Given the description of an element on the screen output the (x, y) to click on. 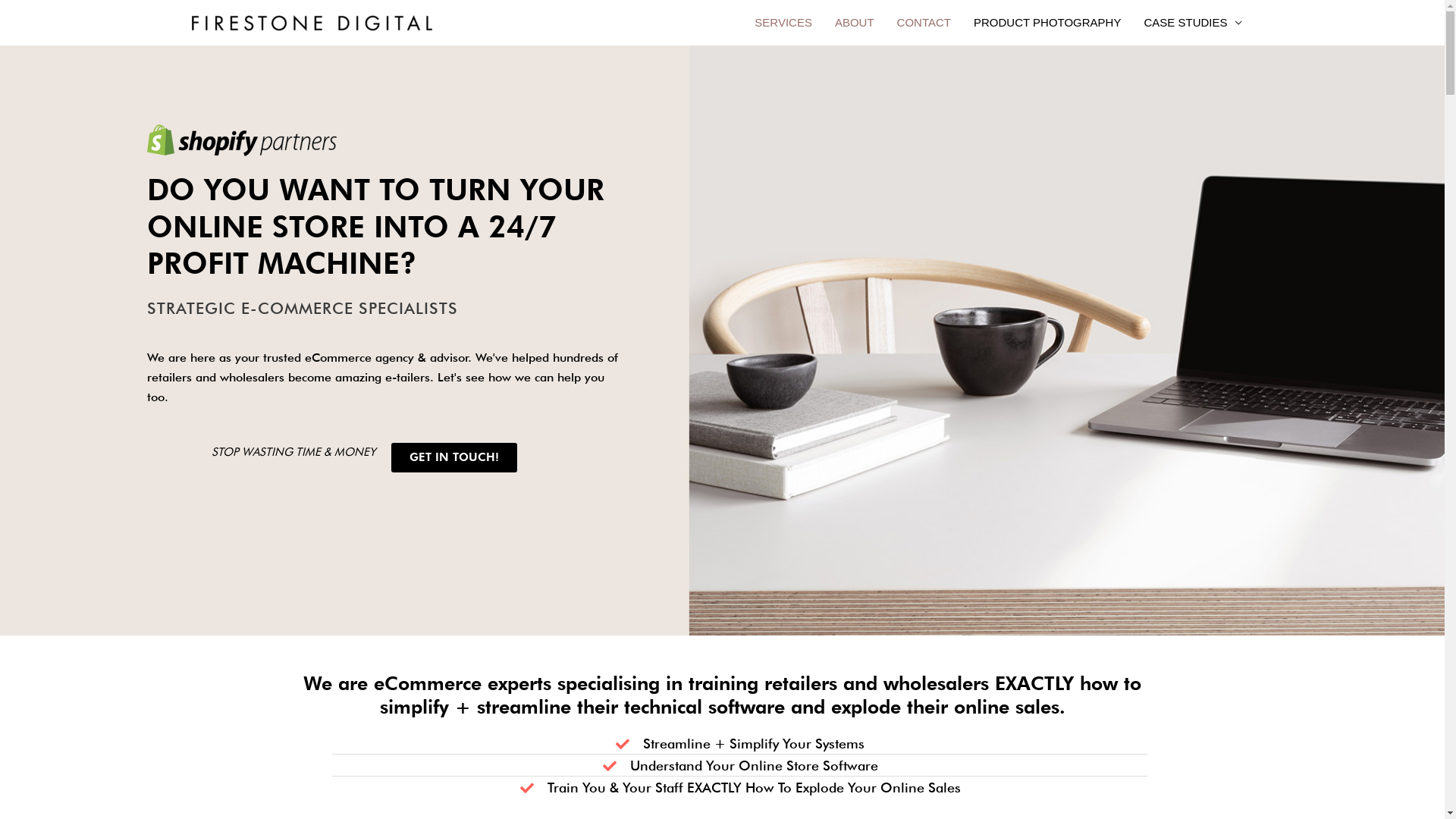
GET IN TOUCH! Element type: text (454, 457)
PRODUCT PHOTOGRAPHY Element type: text (1047, 22)
ABOUT Element type: text (854, 22)
Firestone Digital Australia shopify-partner Element type: hover (241, 140)
CASE STUDIES Element type: text (1192, 22)
SERVICES Element type: text (783, 22)
CONTACT Element type: text (923, 22)
